Given the description of an element on the screen output the (x, y) to click on. 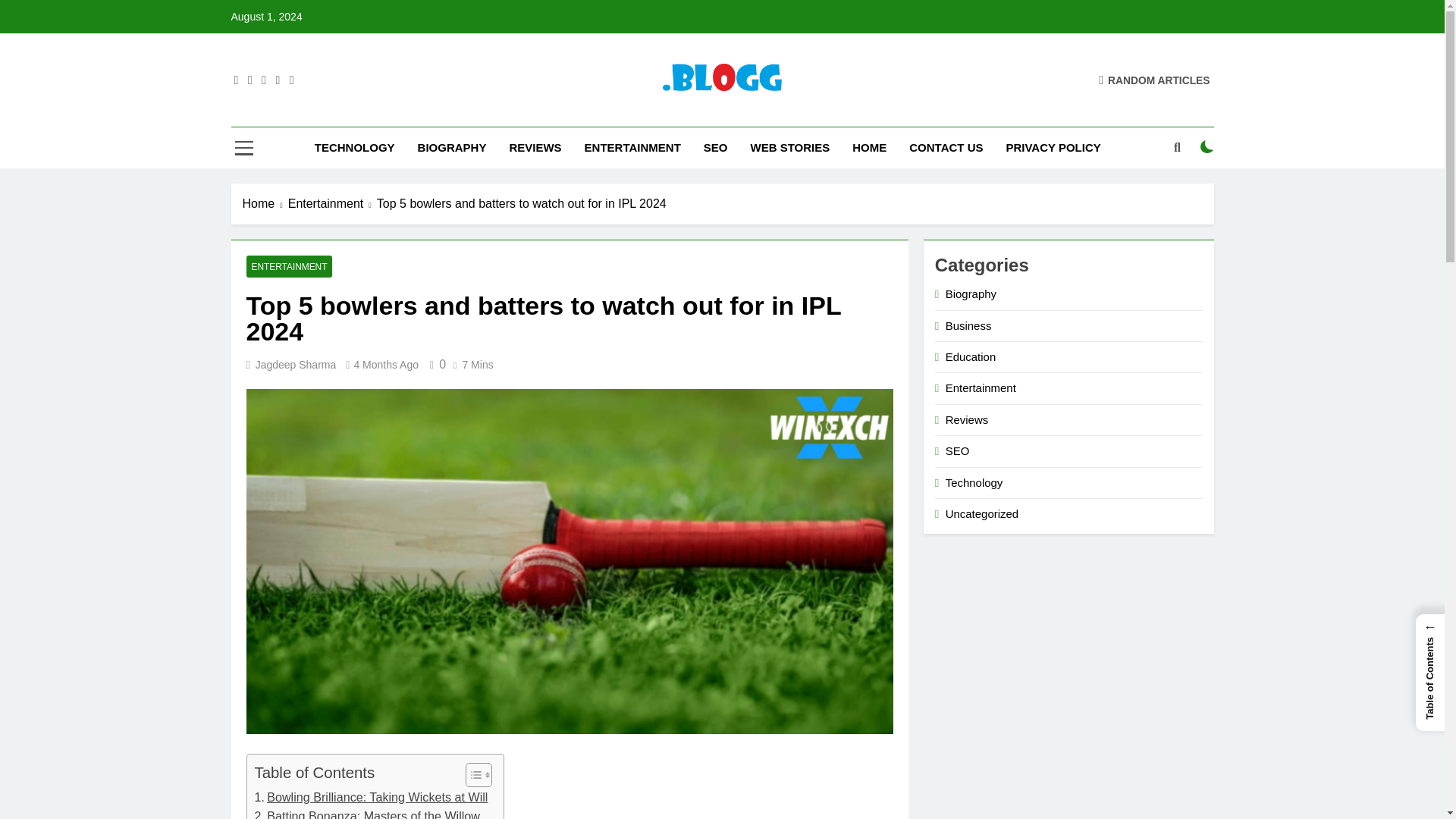
Jagdeep Sharma (296, 364)
 Bowling Brilliance: Taking Wickets at Will (370, 797)
BIOGRAPHY (451, 147)
Entertainment (332, 203)
REVIEWS (534, 147)
Home (265, 203)
TECHNOLOGY (354, 147)
ENTERTAINMENT (633, 147)
4 Months Ago (386, 364)
ENTERTAINMENT (288, 266)
